Given the description of an element on the screen output the (x, y) to click on. 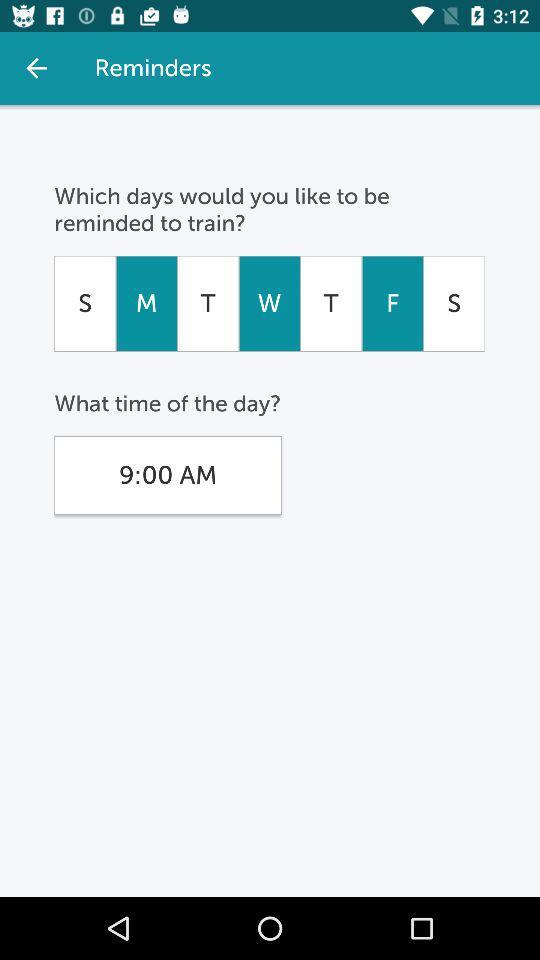
jump to f item (392, 303)
